Given the description of an element on the screen output the (x, y) to click on. 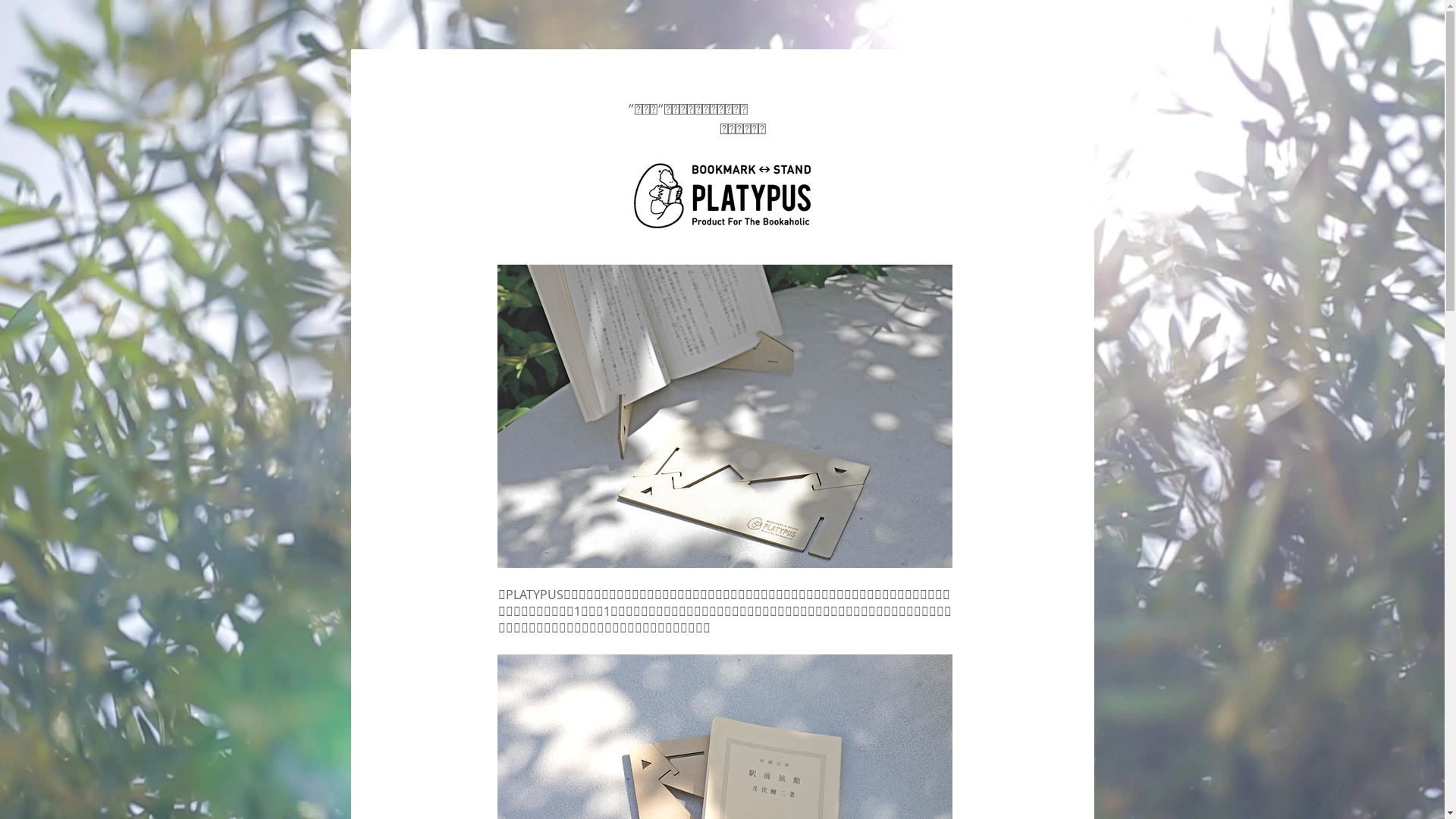
AAGB Element type: hover (1145, 27)
